Given the description of an element on the screen output the (x, y) to click on. 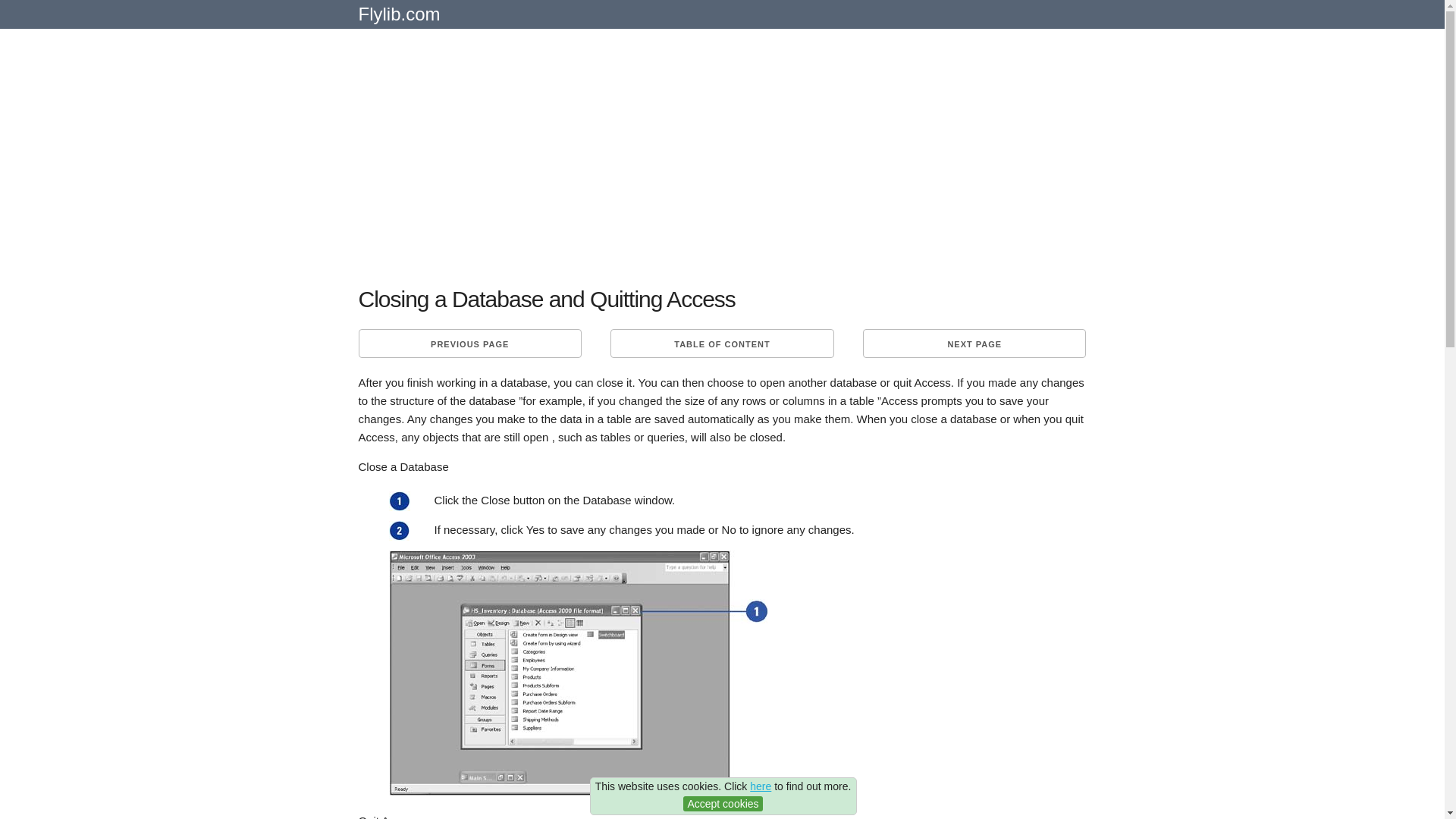
TABLE OF CONTENT (721, 343)
NEXT PAGE (974, 343)
PREVIOUS PAGE (469, 343)
Flylib.com (398, 19)
